Given the description of an element on the screen output the (x, y) to click on. 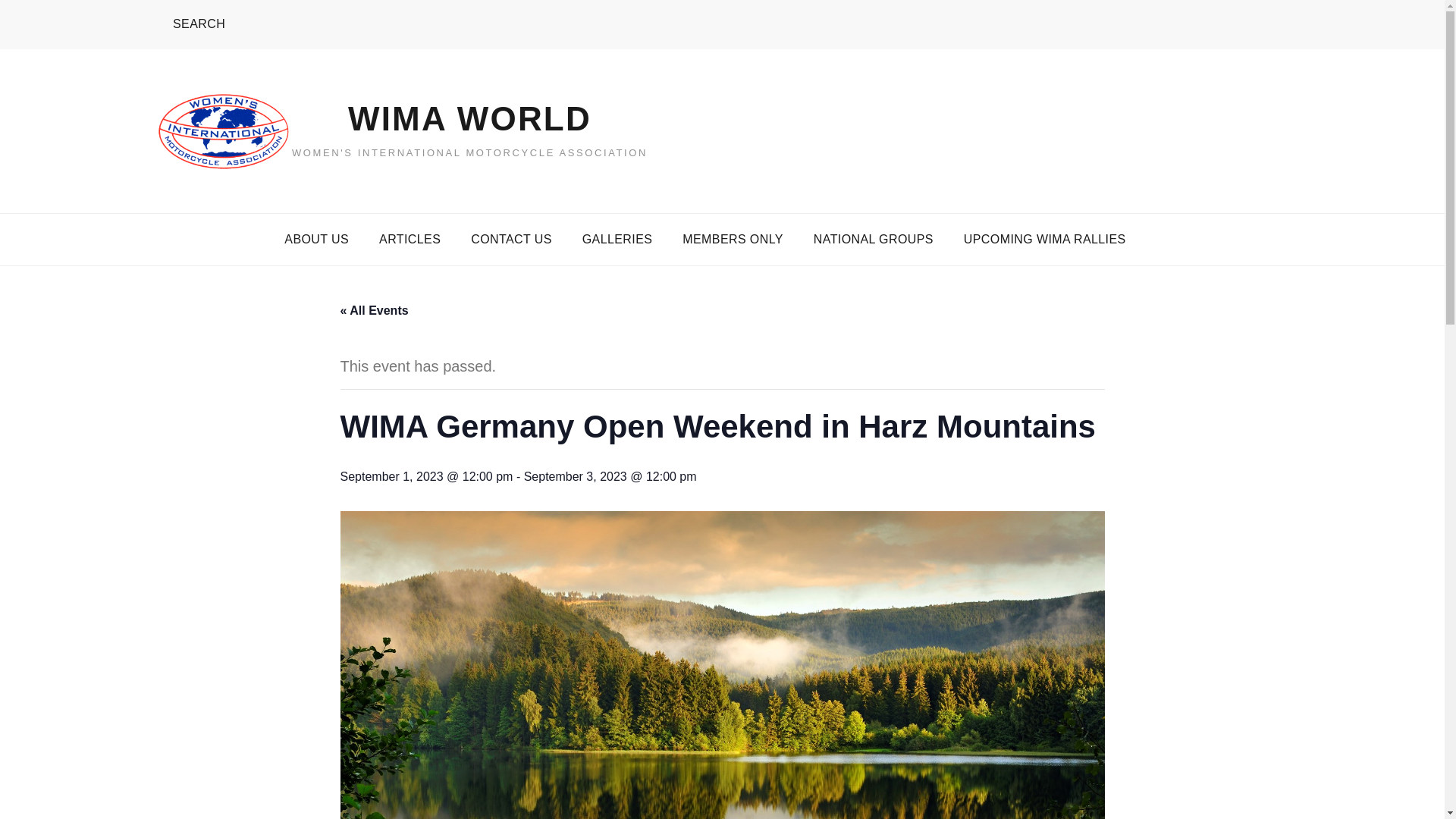
WIMA WORLD (469, 118)
NATIONAL GROUPS (873, 239)
ARTICLES (409, 239)
GALLERIES (617, 239)
ABOUT US (316, 239)
SEARCH (189, 24)
MEMBERS ONLY (731, 239)
CONTACT US (511, 239)
